Given the description of an element on the screen output the (x, y) to click on. 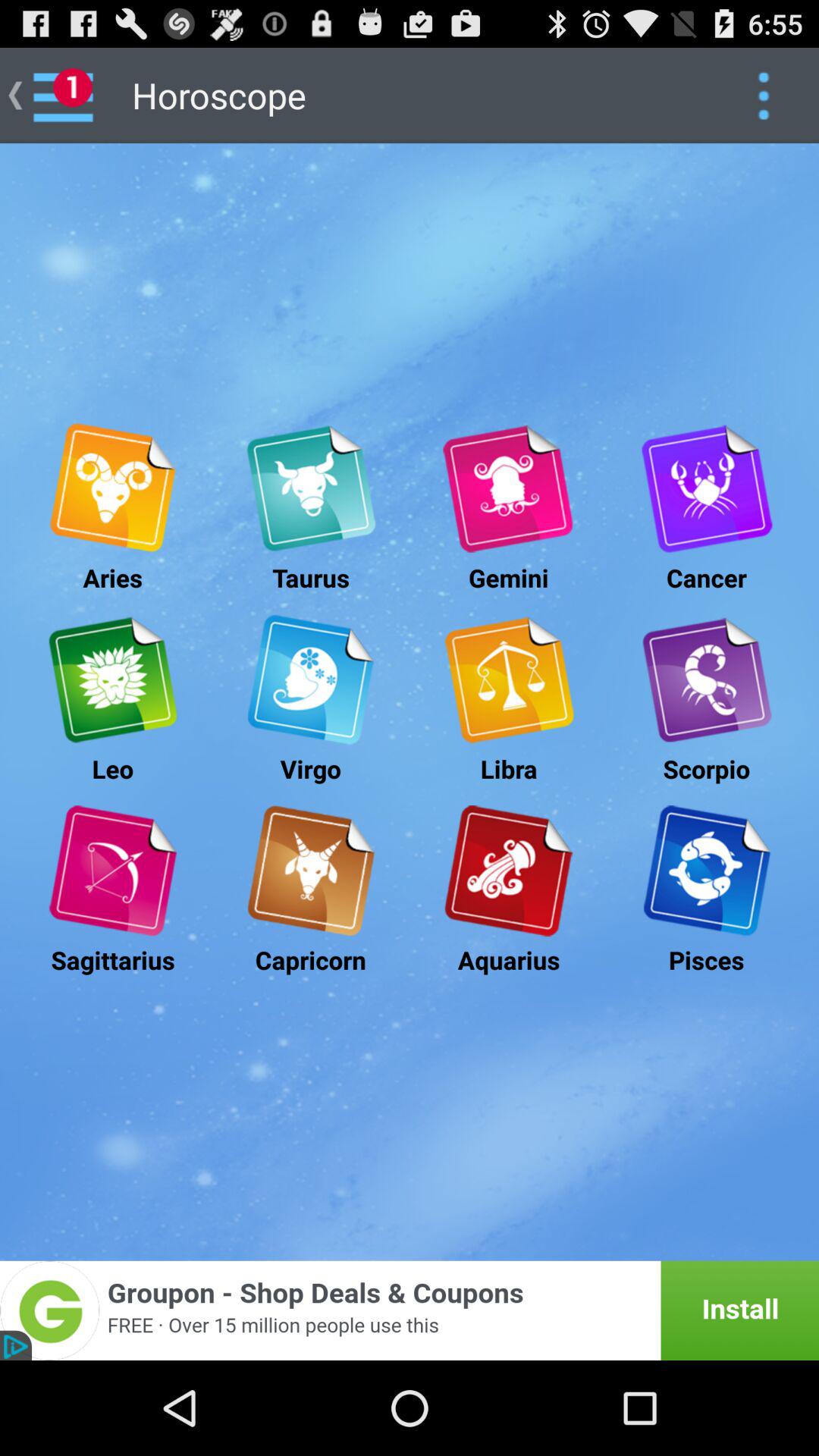
link for pisces page (706, 870)
